Given the description of an element on the screen output the (x, y) to click on. 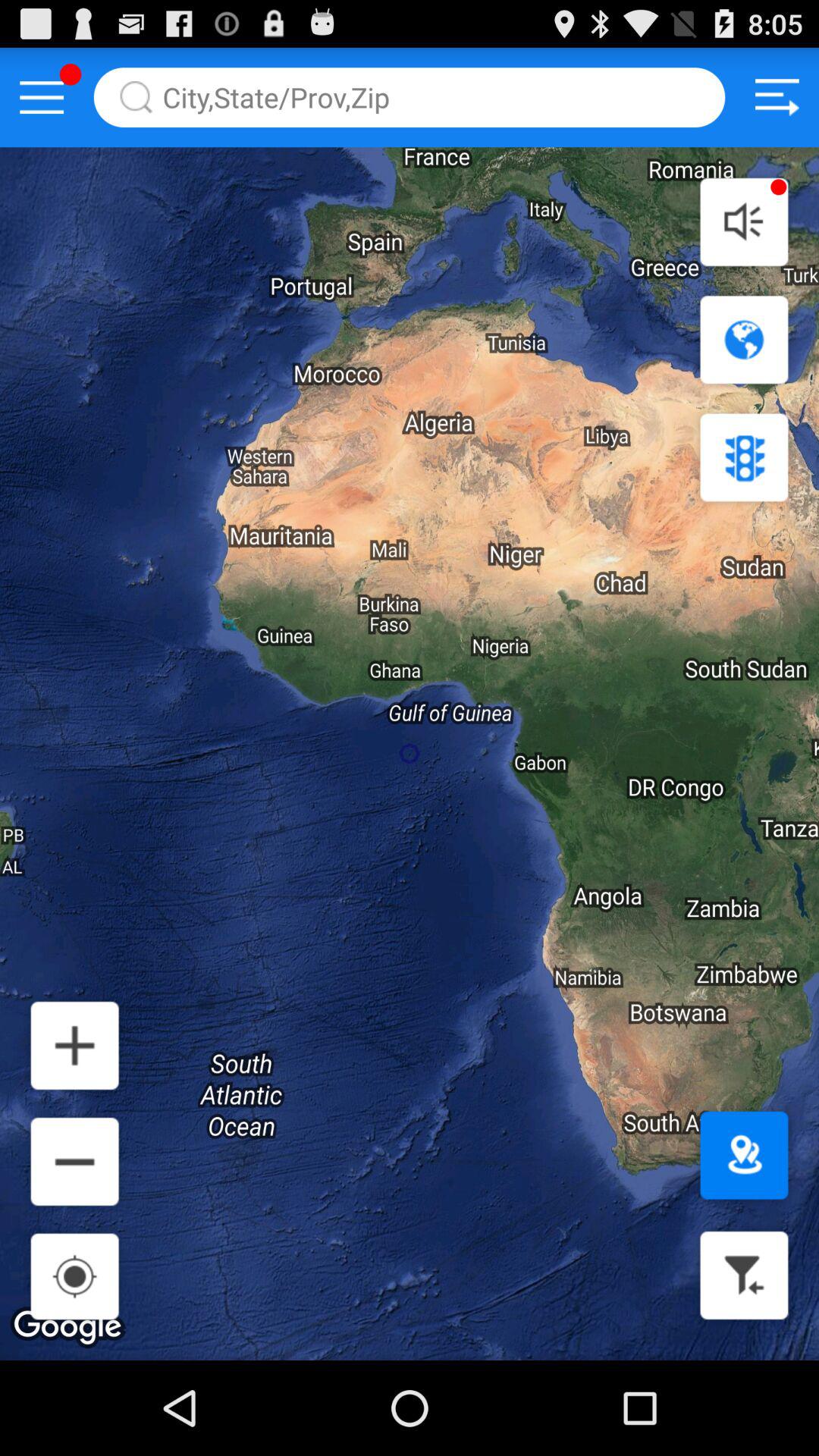
decrease zoom (74, 1161)
